Given the description of an element on the screen output the (x, y) to click on. 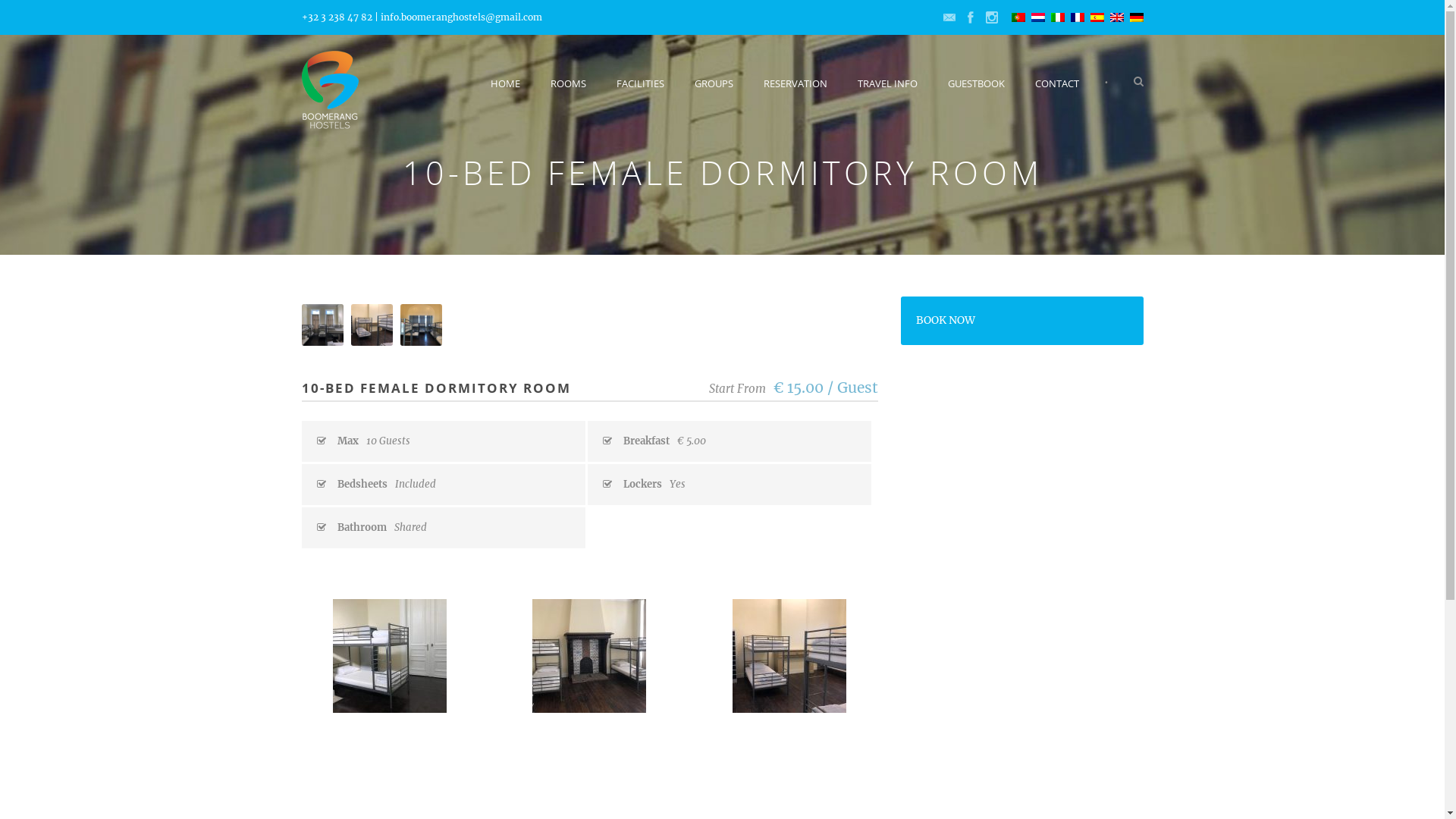
TRAVEL INFO Element type: text (886, 92)
ROOMS Element type: text (568, 92)
info.boomeranghostels@gmail.com Element type: text (461, 16)
CONTACT Element type: text (1056, 92)
FACILITIES Element type: text (639, 92)
BOOK NOW Element type: text (945, 319)
HOME Element type: text (511, 92)
GROUPS Element type: text (713, 92)
RESERVATION Element type: text (794, 92)
GUESTBOOK Element type: text (975, 92)
